Given the description of an element on the screen output the (x, y) to click on. 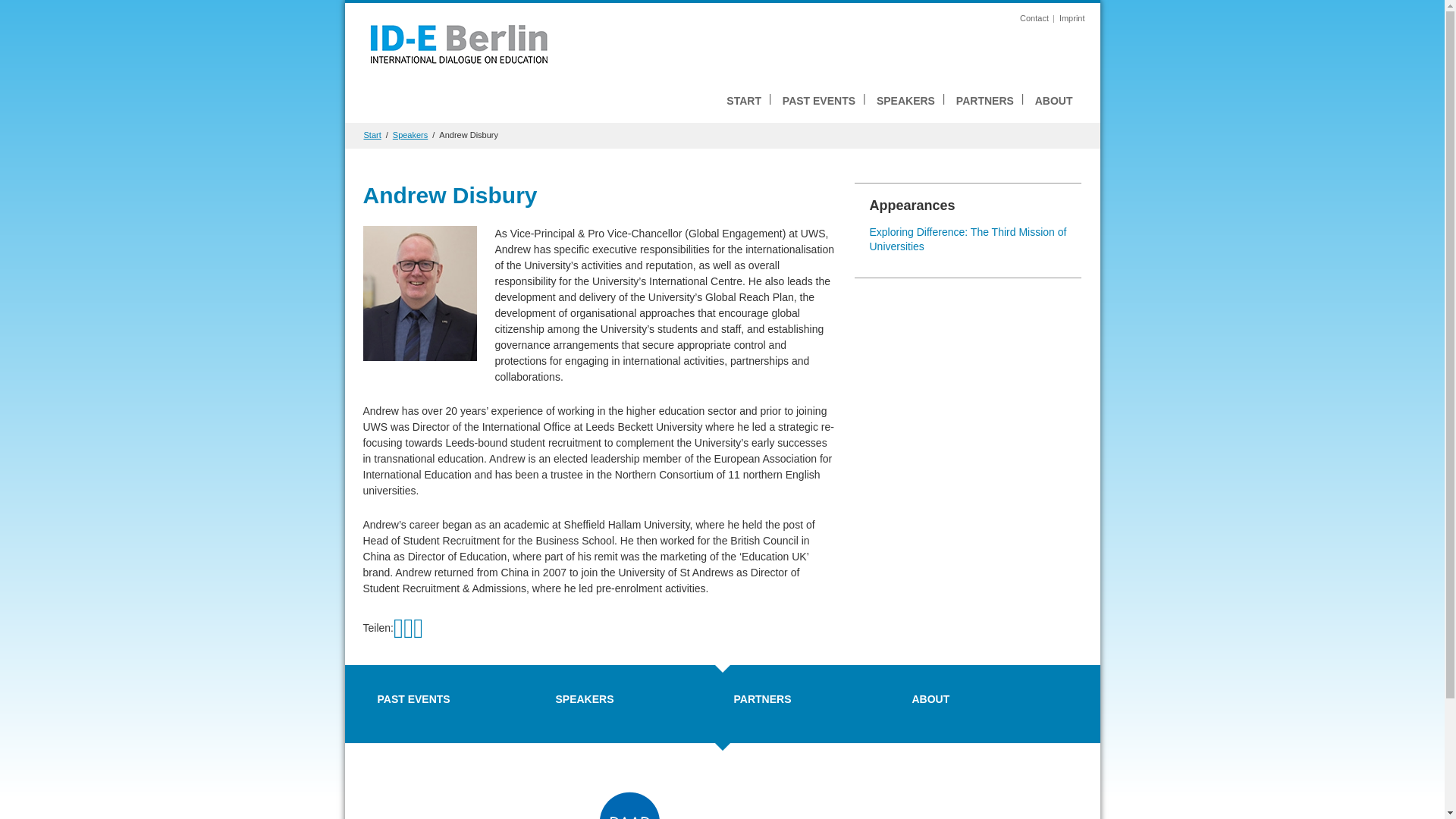
SPEAKERS (583, 698)
ID-E Berlin (457, 42)
ABOUT (930, 698)
Contact (1034, 17)
PAST EVENTS (413, 698)
PAST EVENTS (818, 101)
SPEAKERS (905, 101)
PARTNERS (762, 698)
PARTNERS (985, 101)
Imprint (1071, 17)
